Given the description of an element on the screen output the (x, y) to click on. 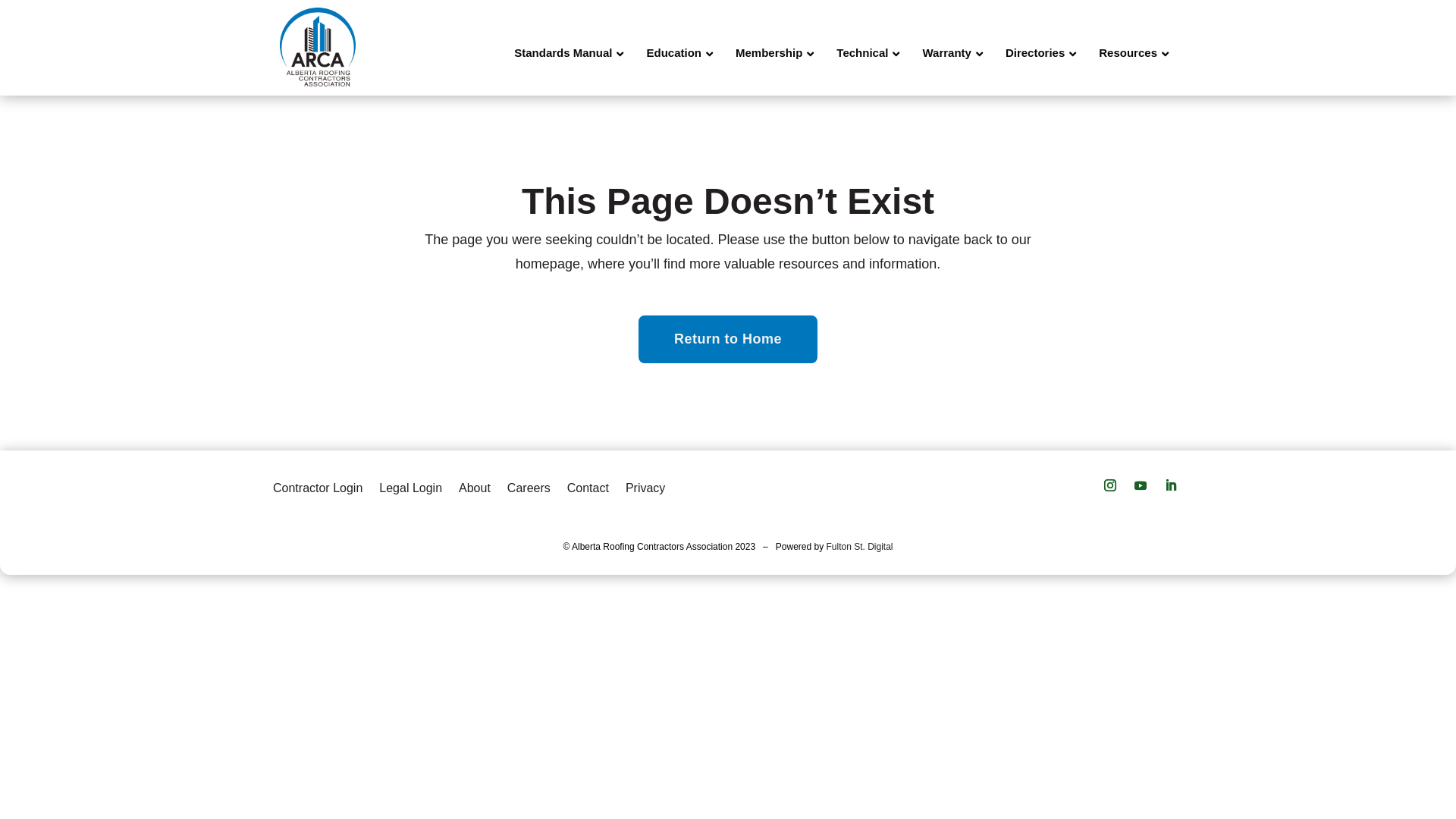
ARCA Logo_Op Element type: hover (317, 47)
Follow on Youtube Element type: hover (1140, 485)
Legal Login Element type: text (410, 484)
Follow on Instagram Element type: hover (1110, 485)
Careers Element type: text (528, 484)
About Element type: text (474, 484)
Fulton St. Digital Element type: text (859, 546)
Follow on LinkedIn Element type: hover (1170, 485)
Contractor Login Element type: text (317, 484)
Contact Element type: text (587, 484)
Return to Home Element type: text (727, 339)
Privacy Element type: text (645, 484)
